Given the description of an element on the screen output the (x, y) to click on. 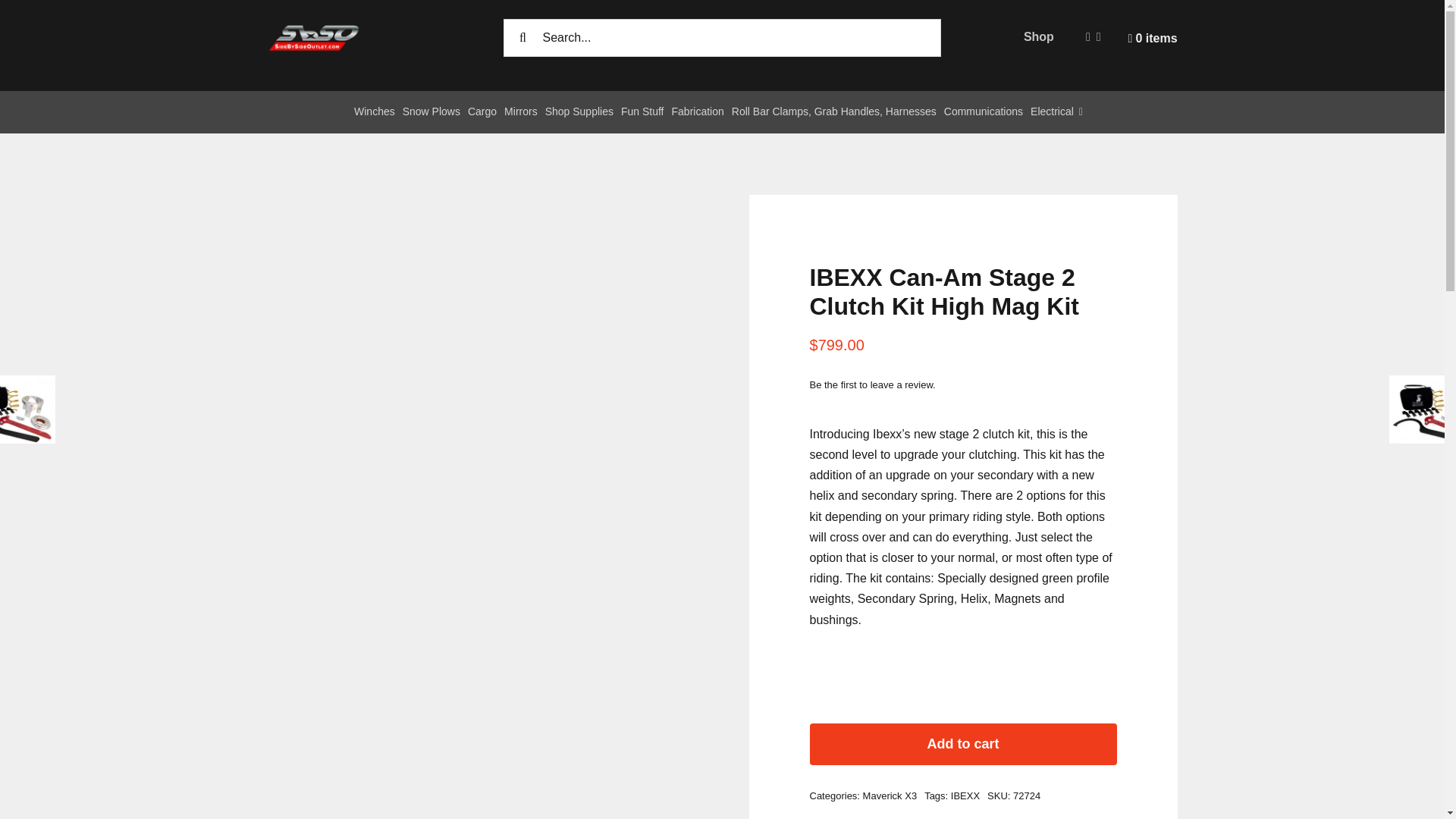
Log In (1243, 224)
Fabrication (701, 112)
IBEXX (964, 795)
Shop Supplies (582, 112)
Electrical (1060, 112)
0 items (1152, 53)
Snow Plows (435, 112)
Communications (986, 112)
Roll Bar Clamps, Grab Handles, Harnesses (837, 112)
Maverick X3 (890, 795)
Fun Stuff (646, 112)
Winches (378, 112)
Mirrors (523, 112)
Add to cart (962, 743)
Cargo (485, 112)
